Given the description of an element on the screen output the (x, y) to click on. 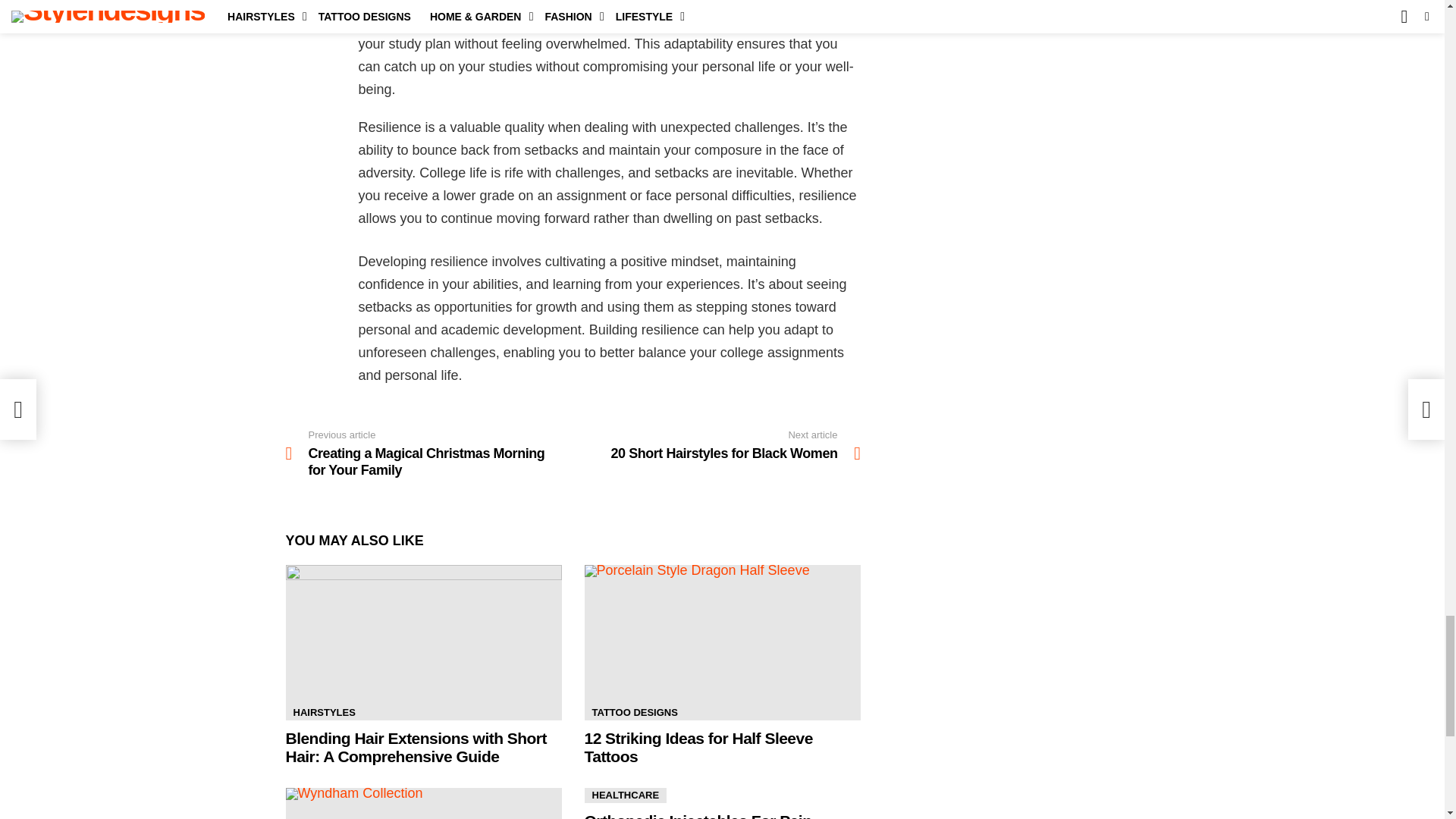
12 Striking Ideas for Half Sleeve Tattoos (721, 642)
